Given the description of an element on the screen output the (x, y) to click on. 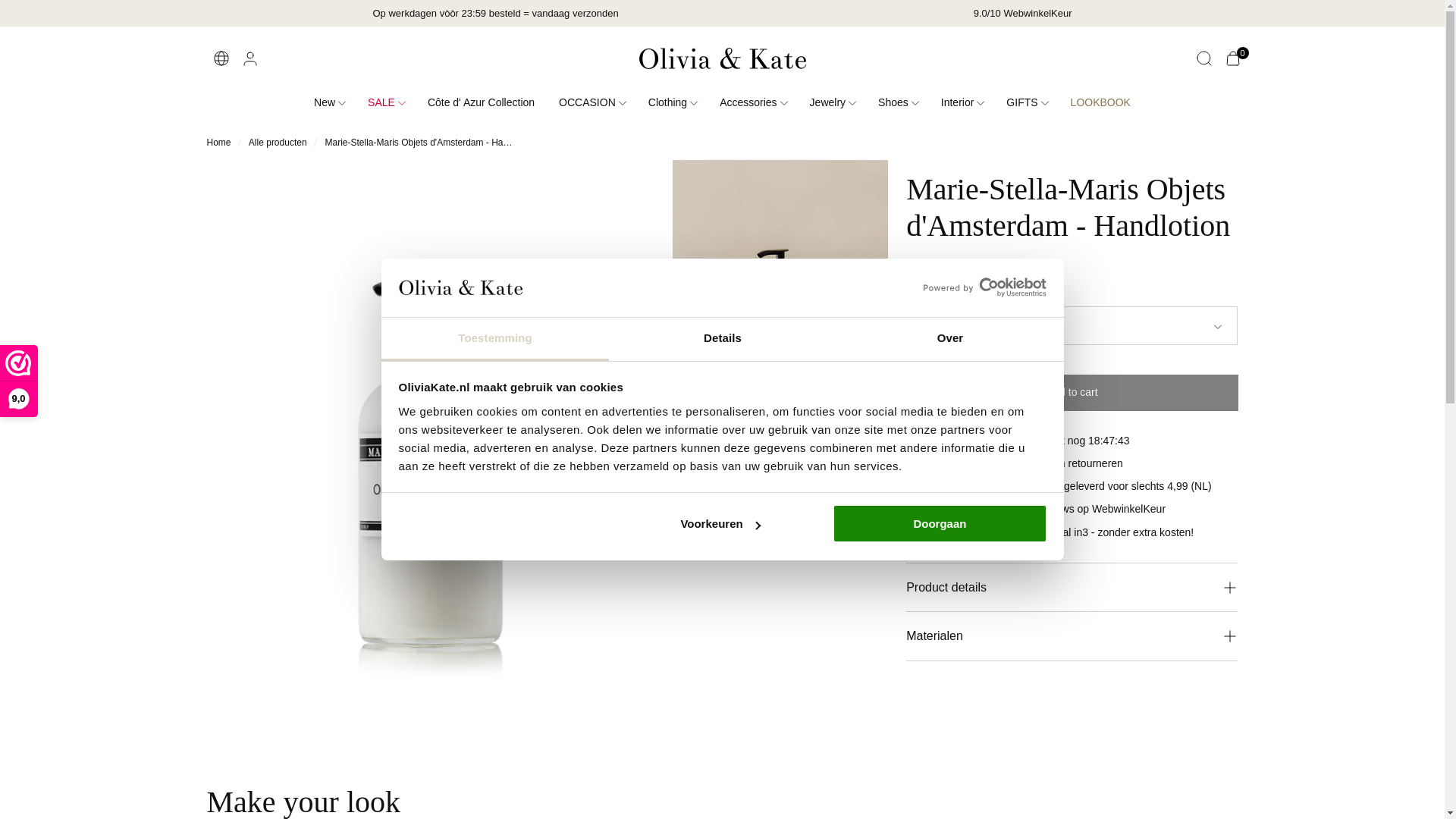
Details (721, 339)
Over (948, 339)
Toestemming (494, 339)
Home (218, 143)
